Given the description of an element on the screen output the (x, y) to click on. 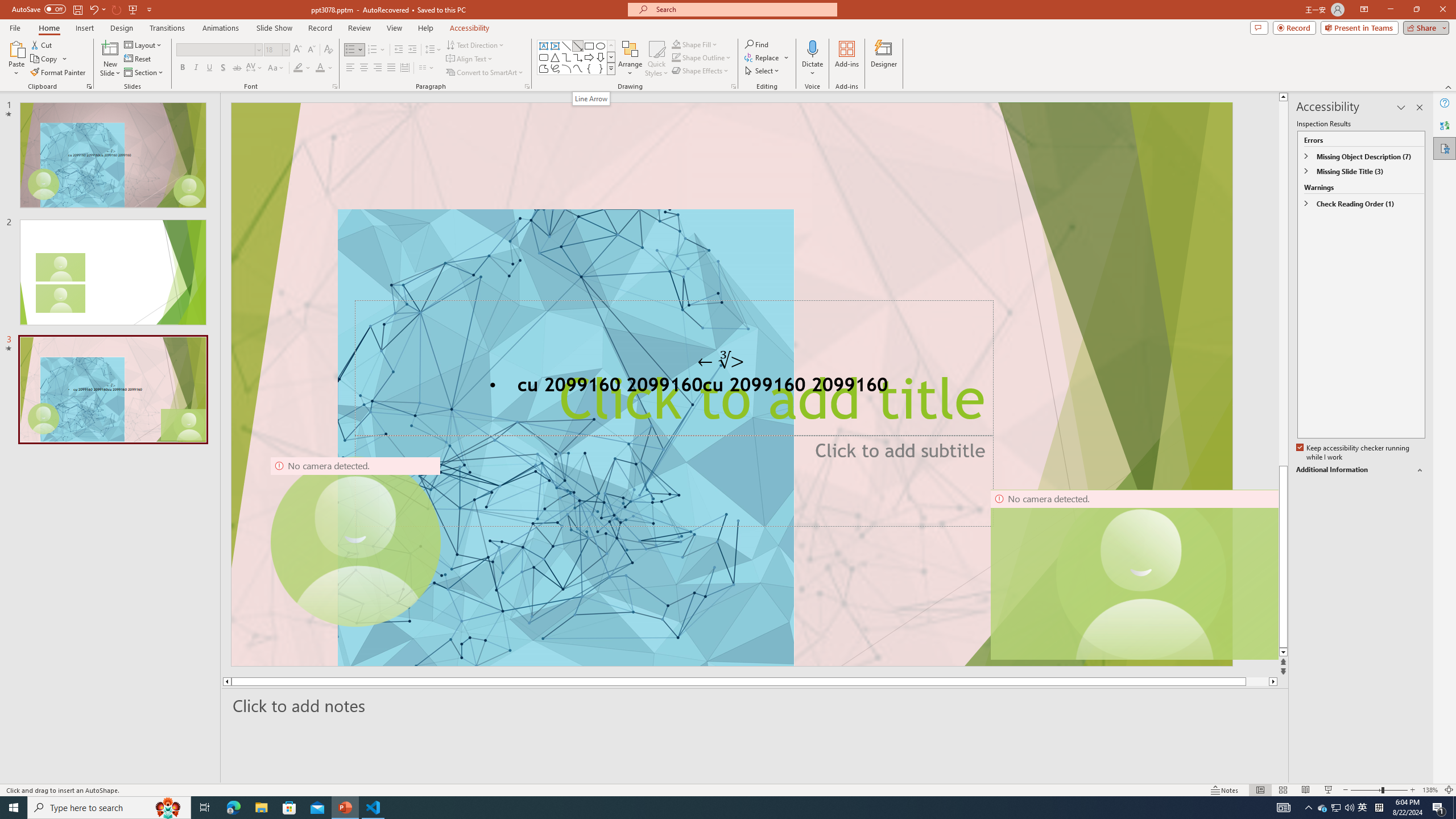
Align Text (470, 58)
Camera 11, No camera detected. (1141, 574)
Section (144, 72)
Text Highlight Color Yellow (297, 67)
